Given the description of an element on the screen output the (x, y) to click on. 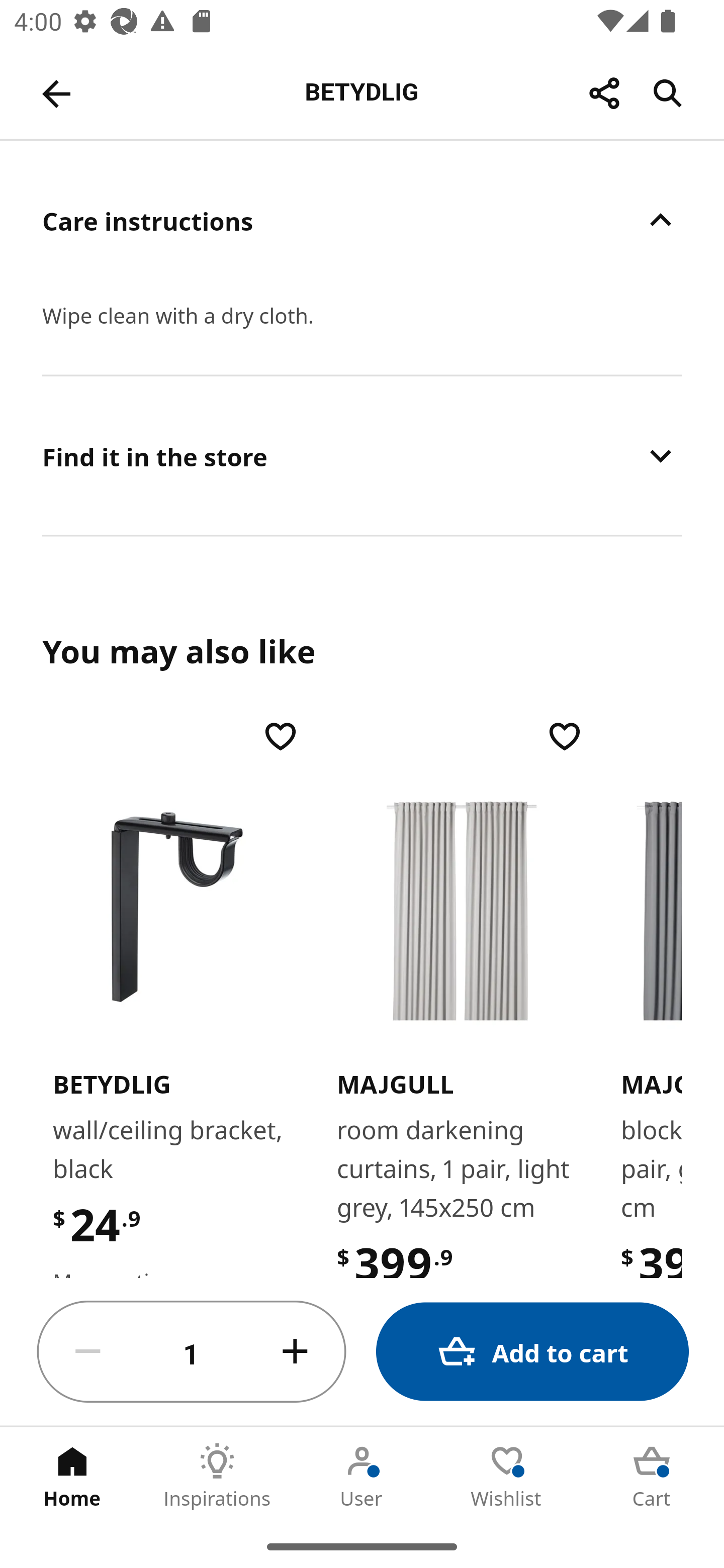
Care instructions (361, 219)
Find it in the store (361, 455)
Add to cart (531, 1352)
1 (191, 1352)
Home
Tab 1 of 5 (72, 1476)
Inspirations
Tab 2 of 5 (216, 1476)
User
Tab 3 of 5 (361, 1476)
Wishlist
Tab 4 of 5 (506, 1476)
Cart
Tab 5 of 5 (651, 1476)
